Given the description of an element on the screen output the (x, y) to click on. 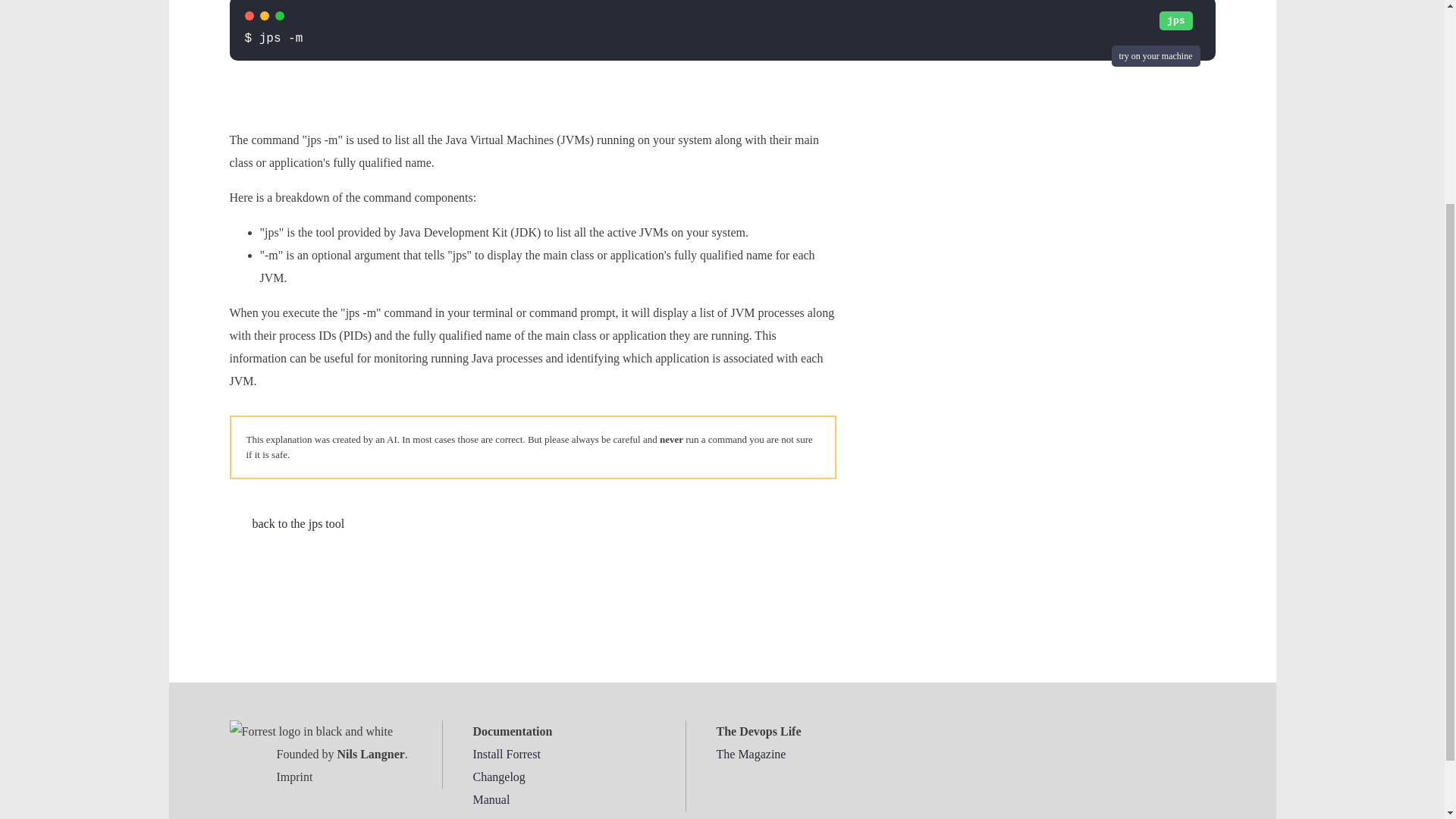
Nils Langner (370, 753)
Changelog (499, 776)
The Magazine (751, 753)
back to the jps tool (285, 522)
Imprint (294, 776)
Install Forrest (506, 753)
jps (1176, 20)
Manual (492, 799)
